Given the description of an element on the screen output the (x, y) to click on. 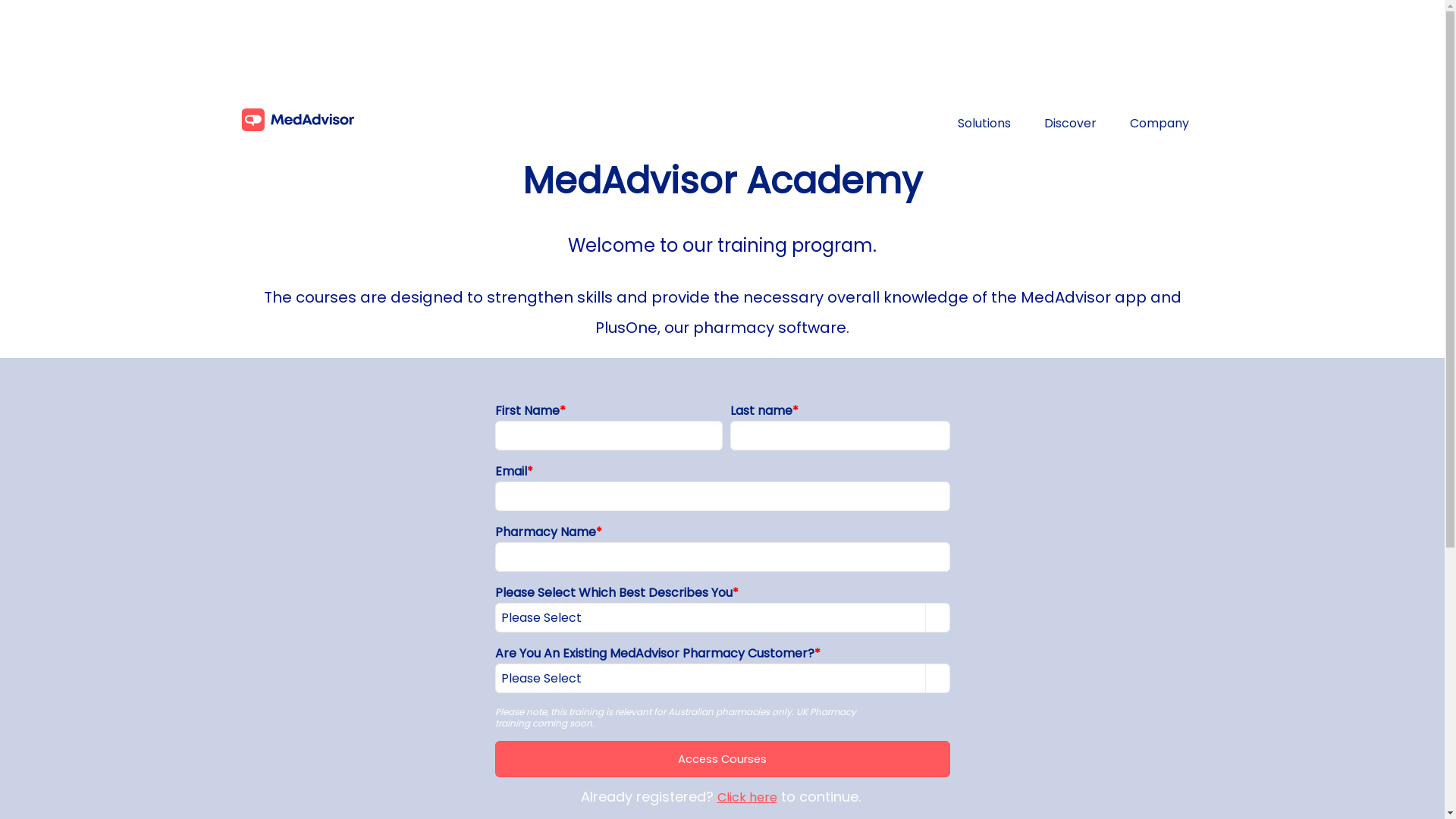
Solutions Element type: text (983, 122)
MedAdvisor Element type: hover (300, 119)
Discover Element type: text (1069, 122)
Company Element type: text (1159, 122)
Click here Element type: text (747, 797)
Access Courses Element type: text (721, 758)
